Given the description of an element on the screen output the (x, y) to click on. 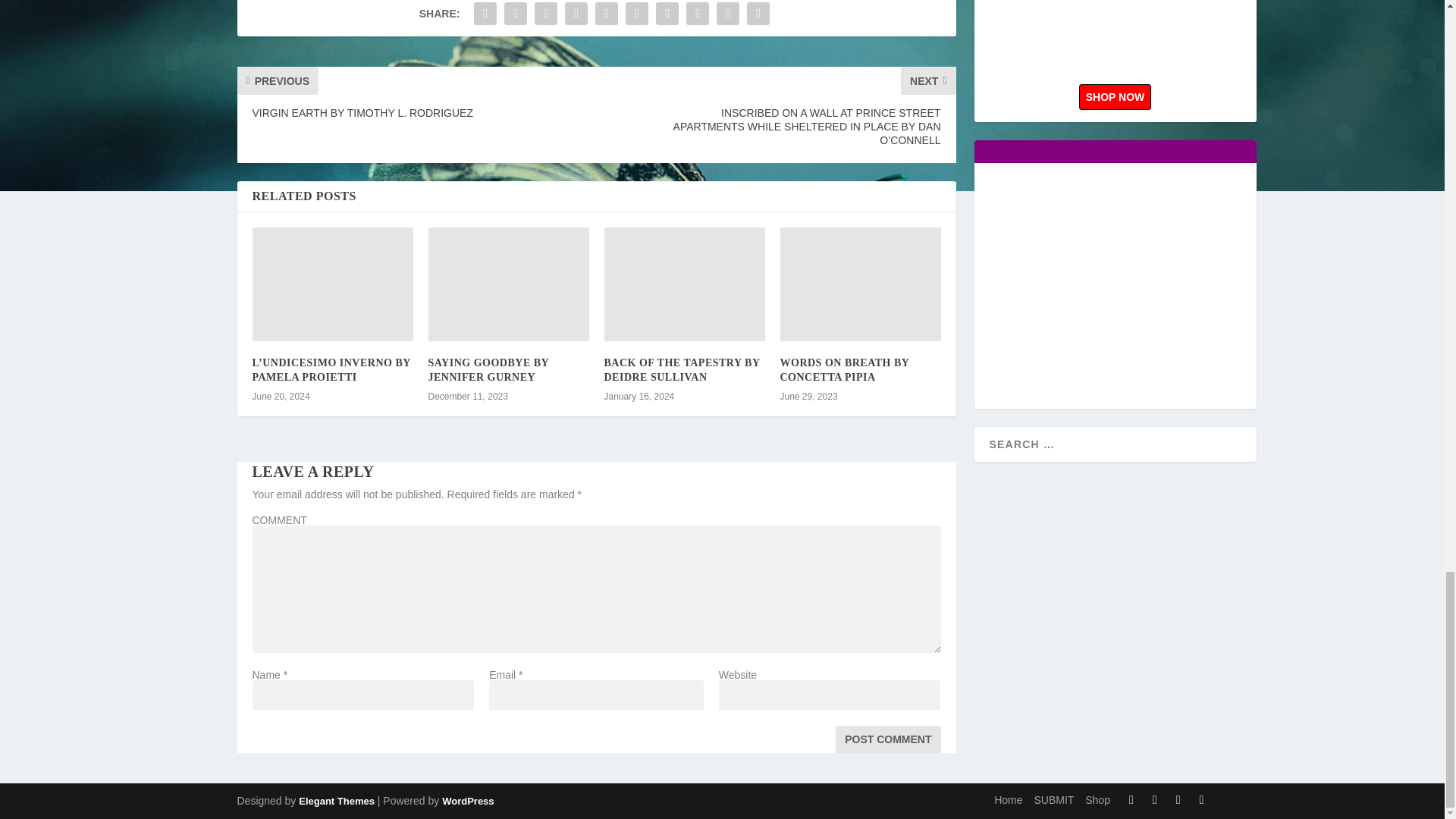
Post Comment (887, 738)
Post Comment (887, 738)
BACK OF THE TAPESTRY BY DEIDRE SULLIVAN (682, 369)
WORDS ON BREATH BY CONCETTA PIPIA (843, 369)
SAYING GOODBYE BY JENNIFER GURNEY (488, 369)
